Given the description of an element on the screen output the (x, y) to click on. 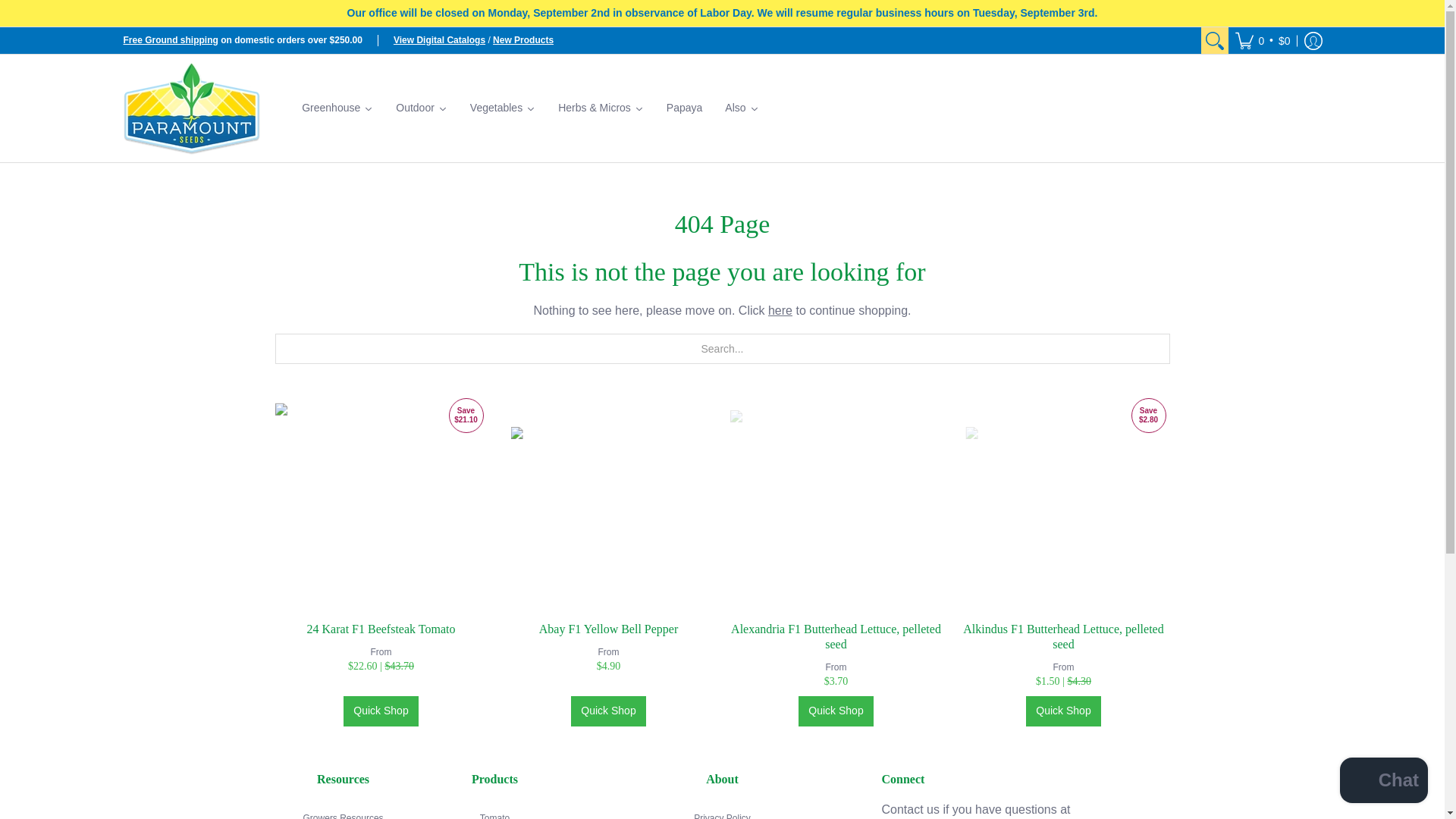
View Digital Catalogs (438, 40)
Shipping Policy (169, 40)
Paramount Seeds Inc (190, 108)
New Products (523, 40)
Free Ground shipping (169, 40)
New Item (523, 40)
Search (1214, 40)
Log in (1312, 40)
Digital Catalogs (438, 40)
Cart (1262, 40)
